Given the description of an element on the screen output the (x, y) to click on. 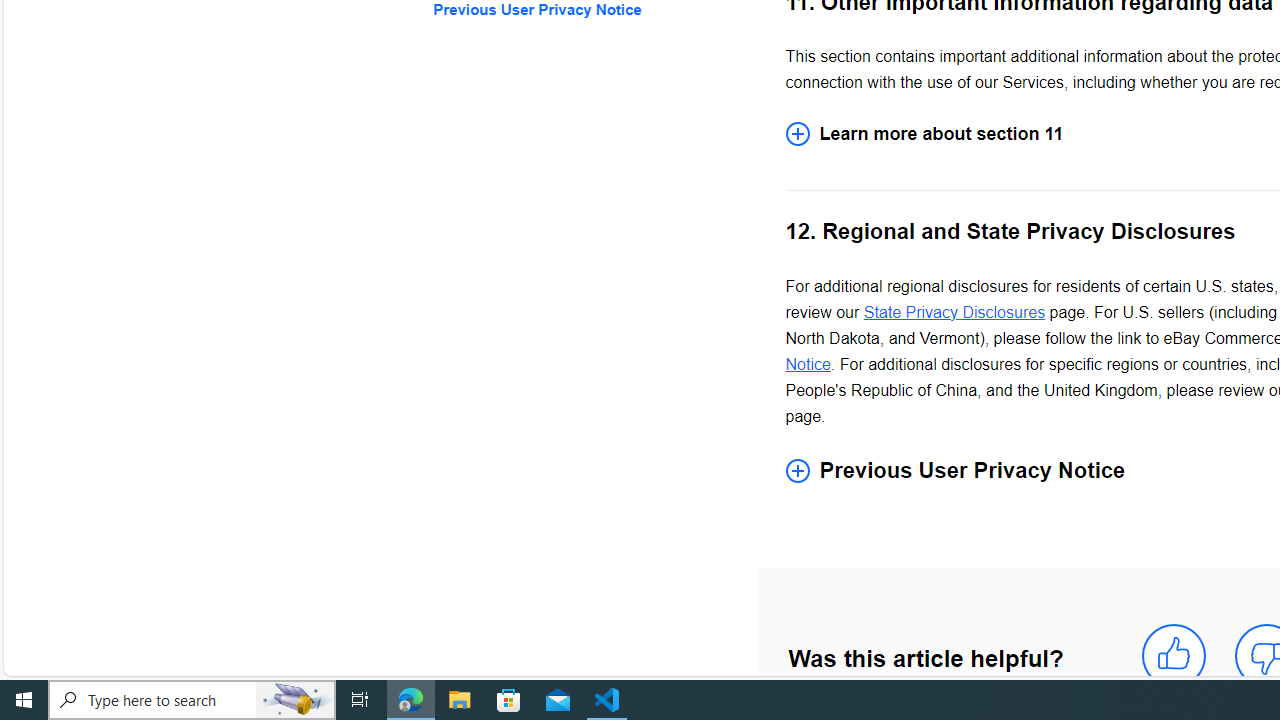
mark this article helpful (1173, 656)
State Privacy Disclosures - opens in new window or tab (953, 312)
